Given the description of an element on the screen output the (x, y) to click on. 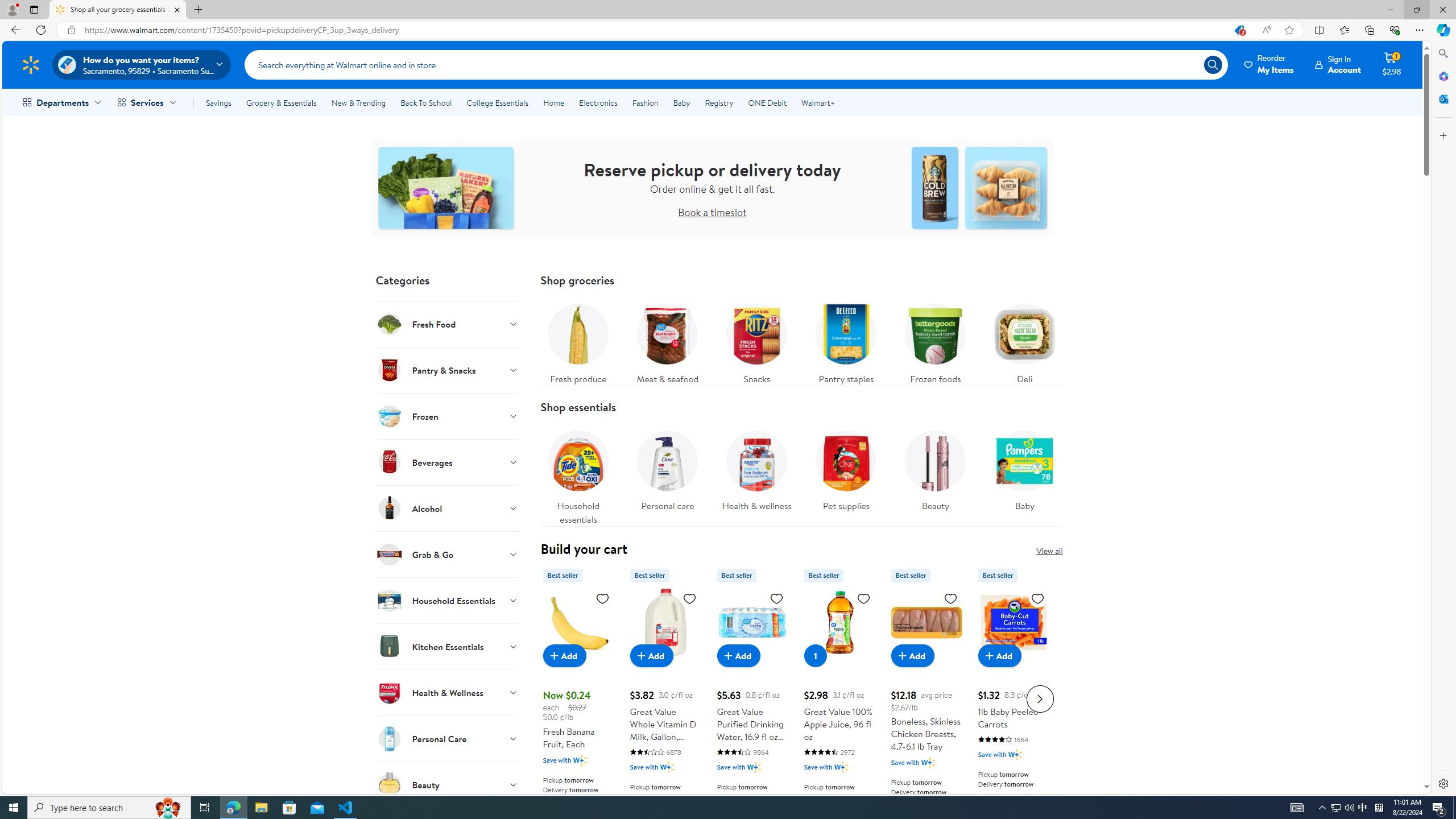
Grocery & Essentials (280, 102)
Savings (217, 102)
College Essentials (496, 102)
View all (1049, 550)
Sign in to add to Favorites list, Fresh Banana Fruit, Each (601, 597)
Baby (1024, 467)
Boneless, Skinless Chicken Breasts, 4.7-6.1 lb Tray (926, 621)
Registry (718, 102)
